Given the description of an element on the screen output the (x, y) to click on. 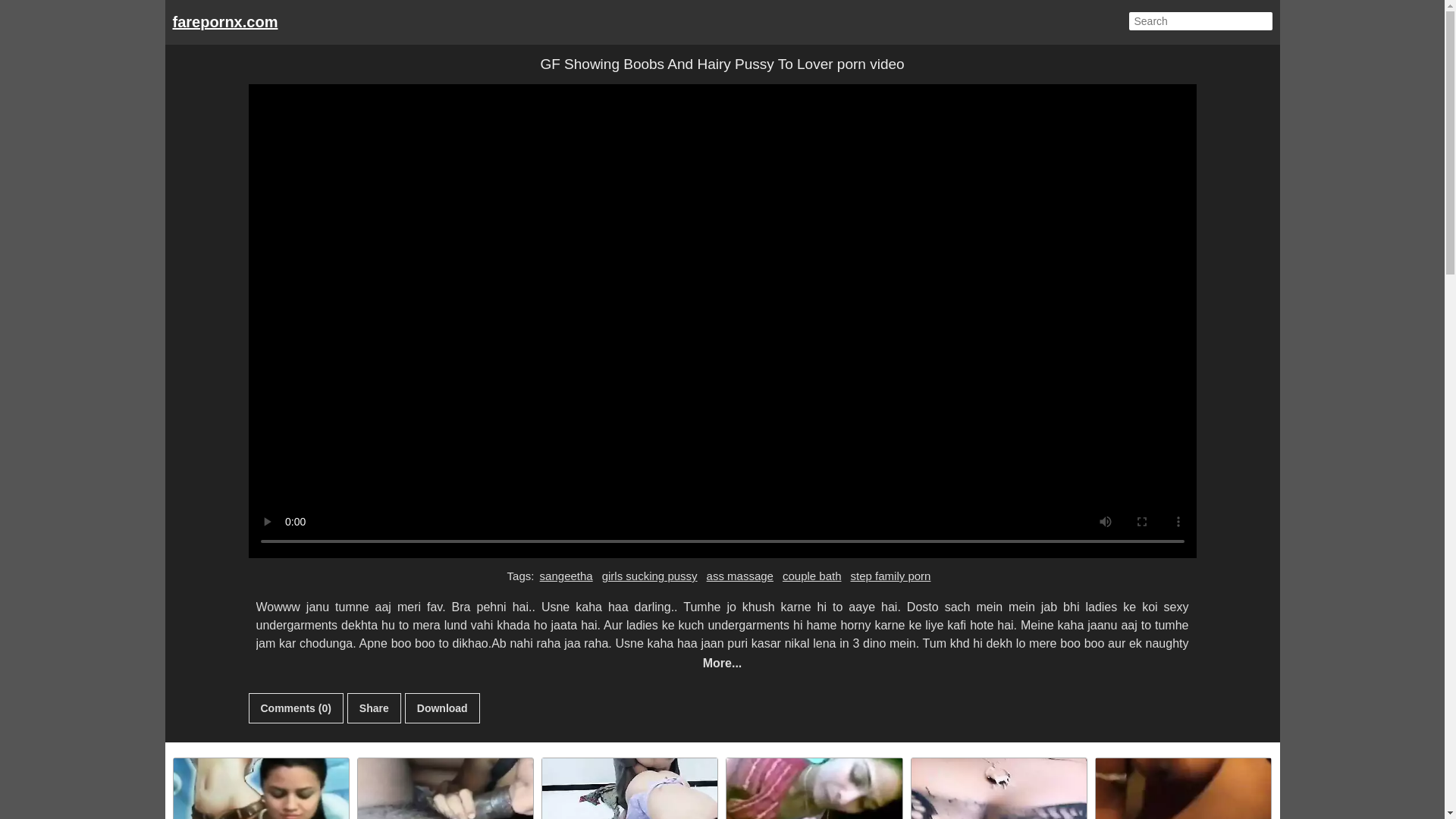
sangeetha (566, 576)
Share (374, 707)
step family porn (890, 576)
Indian Sexy Bhabhi affair part 1 (1183, 788)
ass massage (740, 576)
me sucking client cock (445, 788)
Punjab Amateur Girlfriend Flaunts And Fondles Boobs On Cam (260, 788)
Slim bhabhi enjoys a nice home sex session with her husband (813, 788)
girls sucking pussy (649, 576)
couple bath (812, 576)
farepornx.com (225, 21)
Download (442, 707)
